Given the description of an element on the screen output the (x, y) to click on. 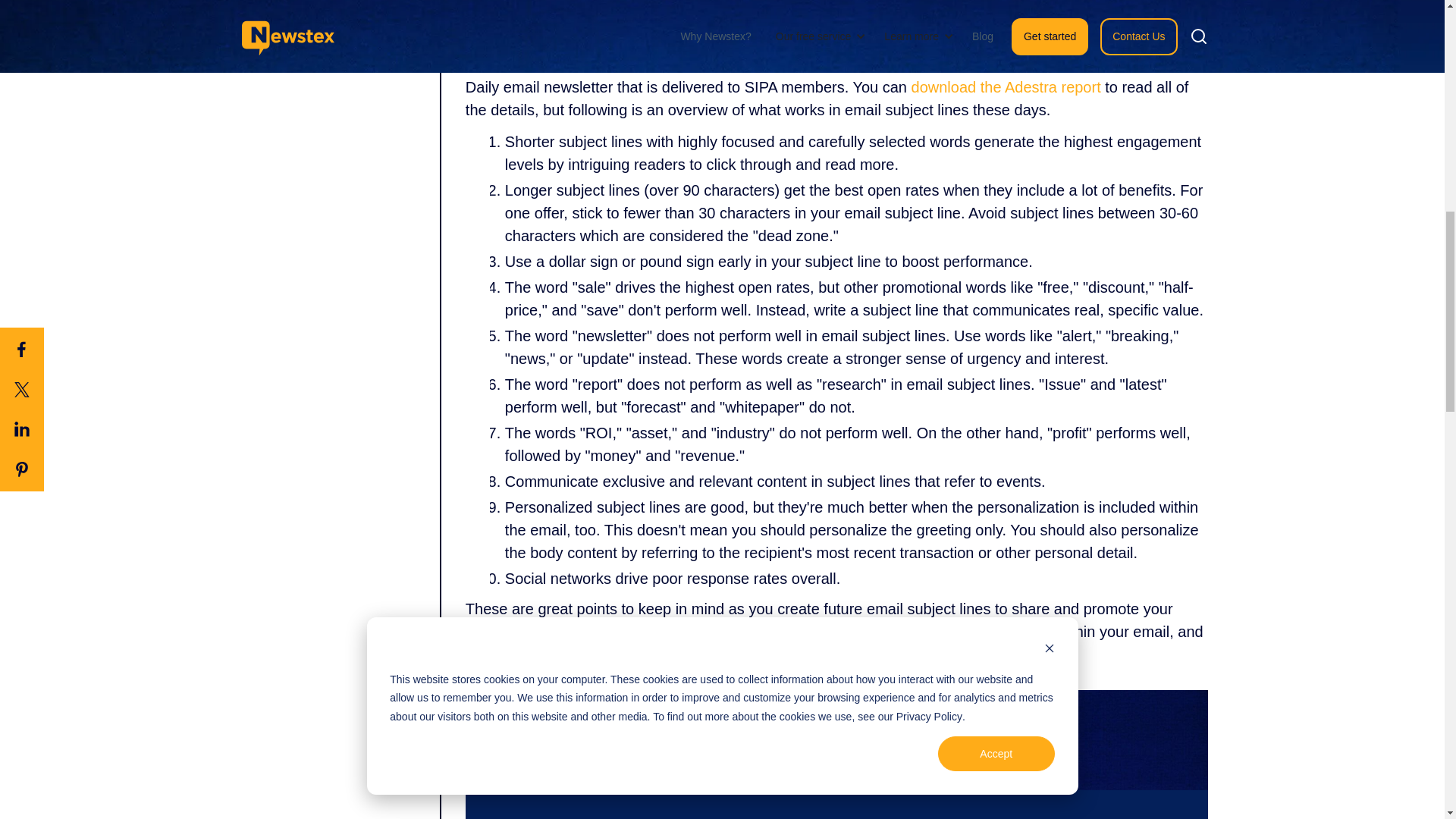
Simon Stratford (916, 654)
download the Adestra report (1005, 86)
SIPA (980, 41)
